Given the description of an element on the screen output the (x, y) to click on. 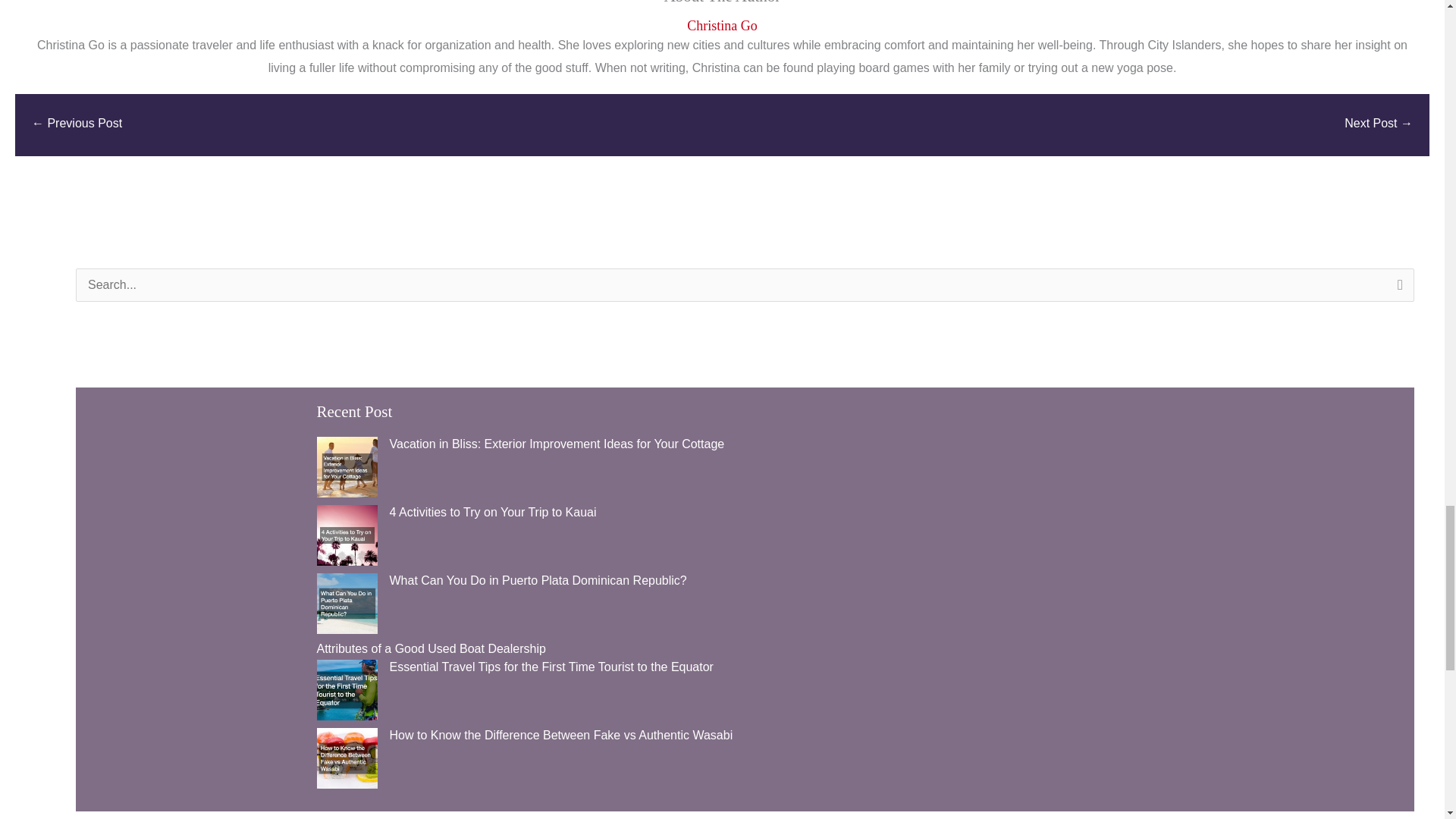
Everything patients need to know about dental implants (1377, 124)
Roof Designs That You Should Consider for Your Home (77, 124)
What Can You Do in Puerto Plata Dominican Republic? (538, 579)
Attributes of a Good Used Boat Dealership (431, 647)
4 Activities to Try on Your Trip to Kauai (493, 511)
Christina Go (721, 26)
How to Know the Difference Between Fake vs Authentic Wasabi (561, 734)
